Given the description of an element on the screen output the (x, y) to click on. 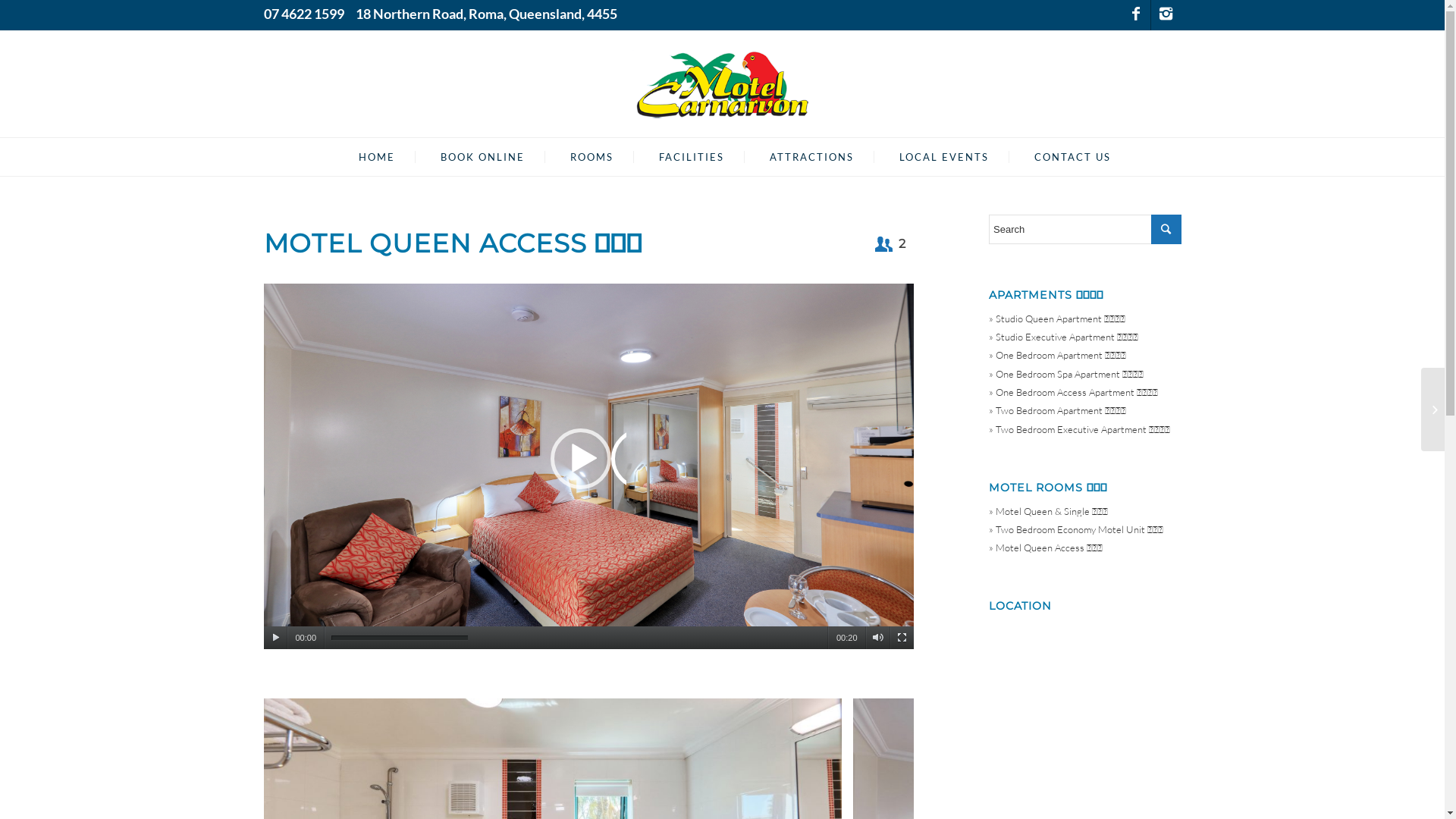
LOCAL EVENTS Element type: text (930, 156)
Fullscreen Element type: hover (901, 637)
FACILITIES Element type: text (678, 156)
CONTACT US Element type: text (1059, 156)
18 Northern Road, Roma, Queensland, 4455 Element type: text (485, 13)
Facebook Element type: hover (1135, 15)
ROOMS Element type: text (578, 156)
BOOK ONLINE Element type: text (469, 156)
ATTRACTIONS Element type: text (798, 156)
Mute Element type: hover (877, 637)
HOME Element type: text (363, 156)
Play Element type: hover (275, 637)
07 4622 1599 Element type: text (303, 13)
Instagram Element type: hover (1166, 15)
